Given the description of an element on the screen output the (x, y) to click on. 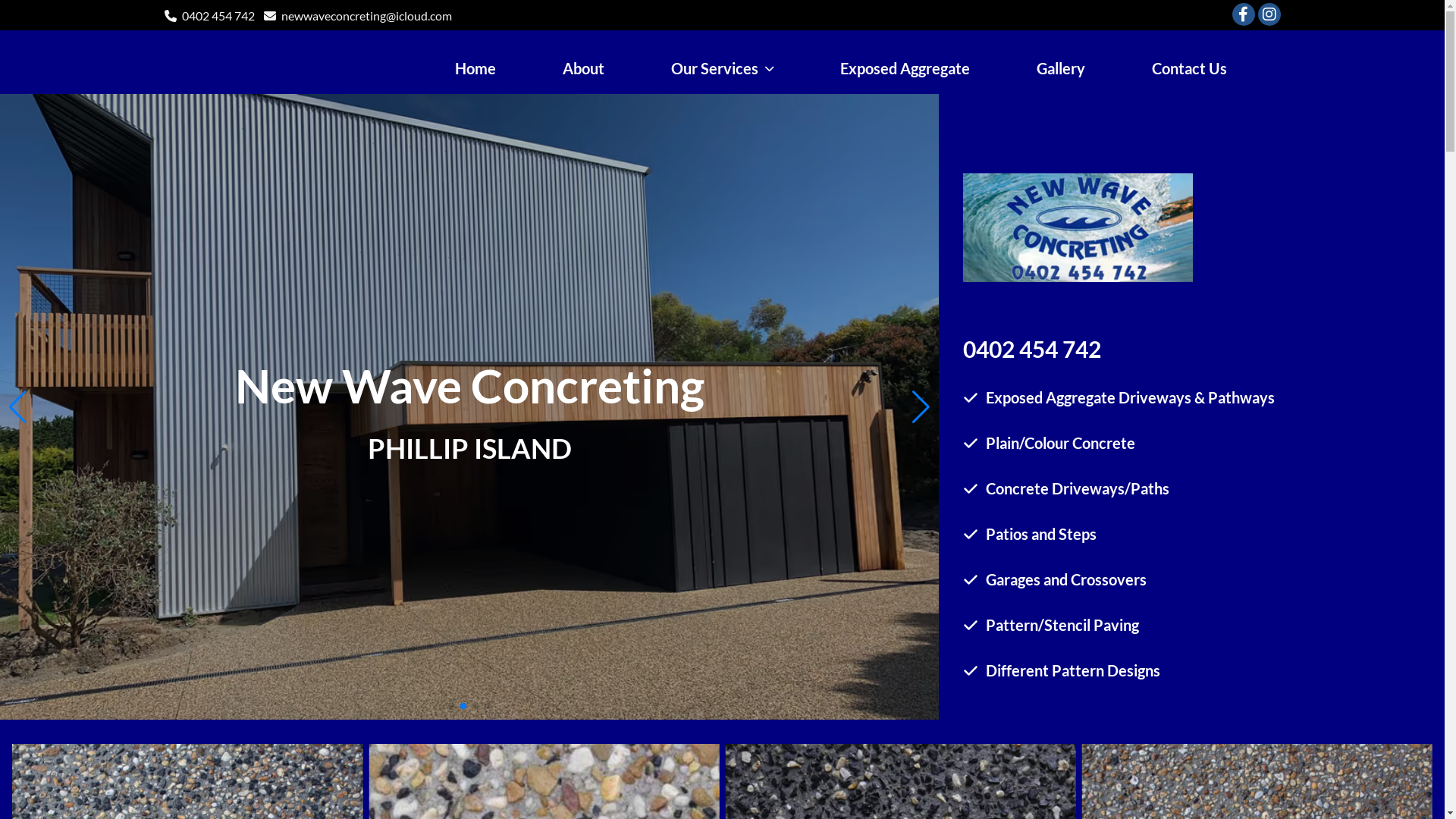
Exposed Aggregate Element type: text (905, 67)
Garages and Crossovers Element type: text (1065, 579)
Different Pattern Designs Element type: text (1072, 670)
Concrete Driveways/Paths Element type: text (1077, 488)
Plain/Colour Concrete Element type: text (1060, 442)
0402 454 742 Element type: text (218, 15)
Exposed Aggregate Driveways & Pathways Element type: text (1129, 397)
Our Facebook page Element type: hover (1242, 14)
Our Services Element type: text (721, 67)
Our Instagram page Element type: hover (1268, 14)
Contact Us Element type: text (1188, 67)
Pattern/Stencil Paving Element type: text (1062, 624)
Home Element type: text (475, 67)
Patios and Steps Element type: text (1040, 533)
Gallery Element type: text (1059, 67)
About Element type: text (583, 67)
0402 454 742 Element type: text (1032, 348)
newwaveconcreting@icloud.com Element type: text (365, 15)
